Given the description of an element on the screen output the (x, y) to click on. 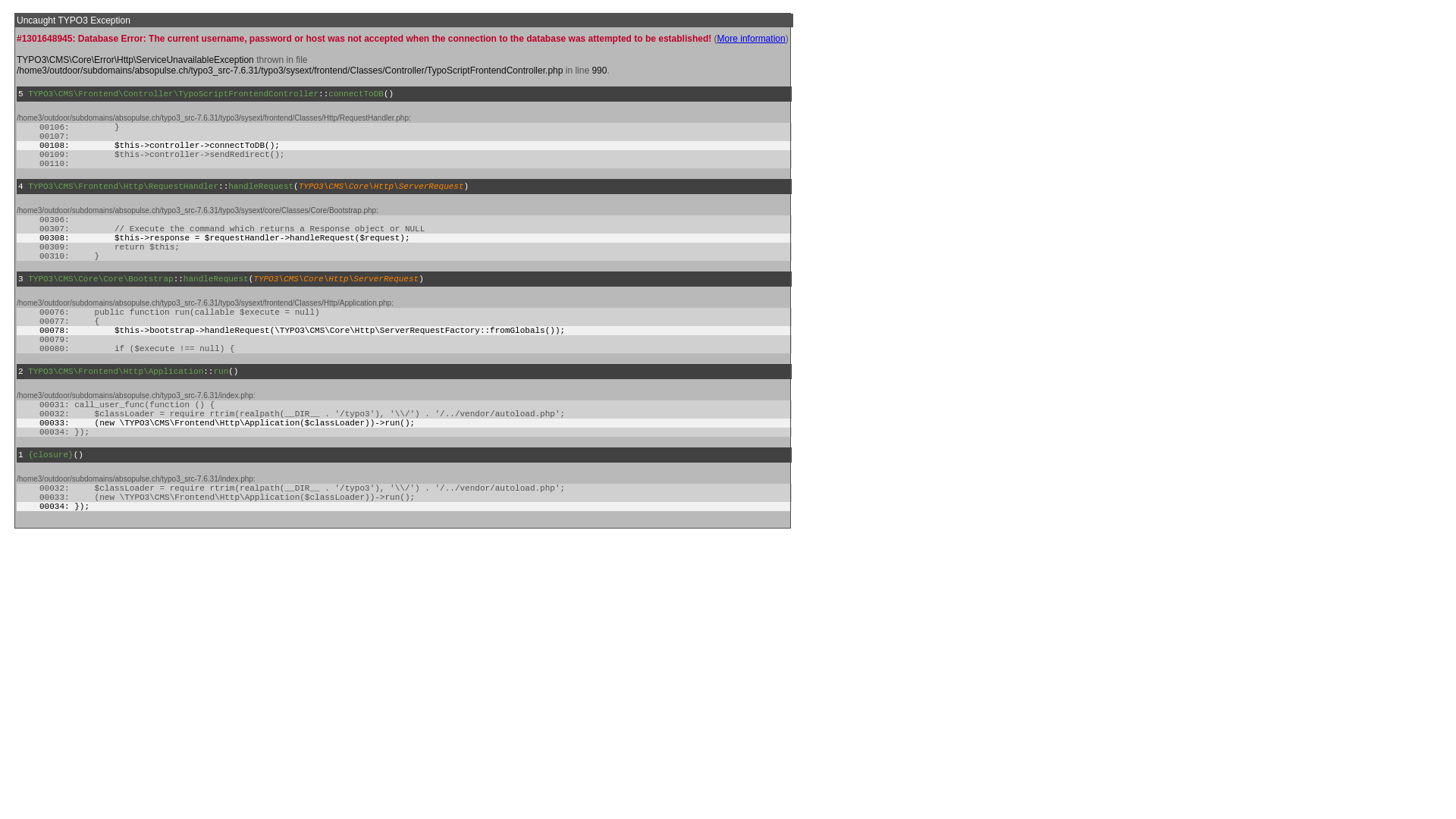
More information Element type: text (751, 38)
